Given the description of an element on the screen output the (x, y) to click on. 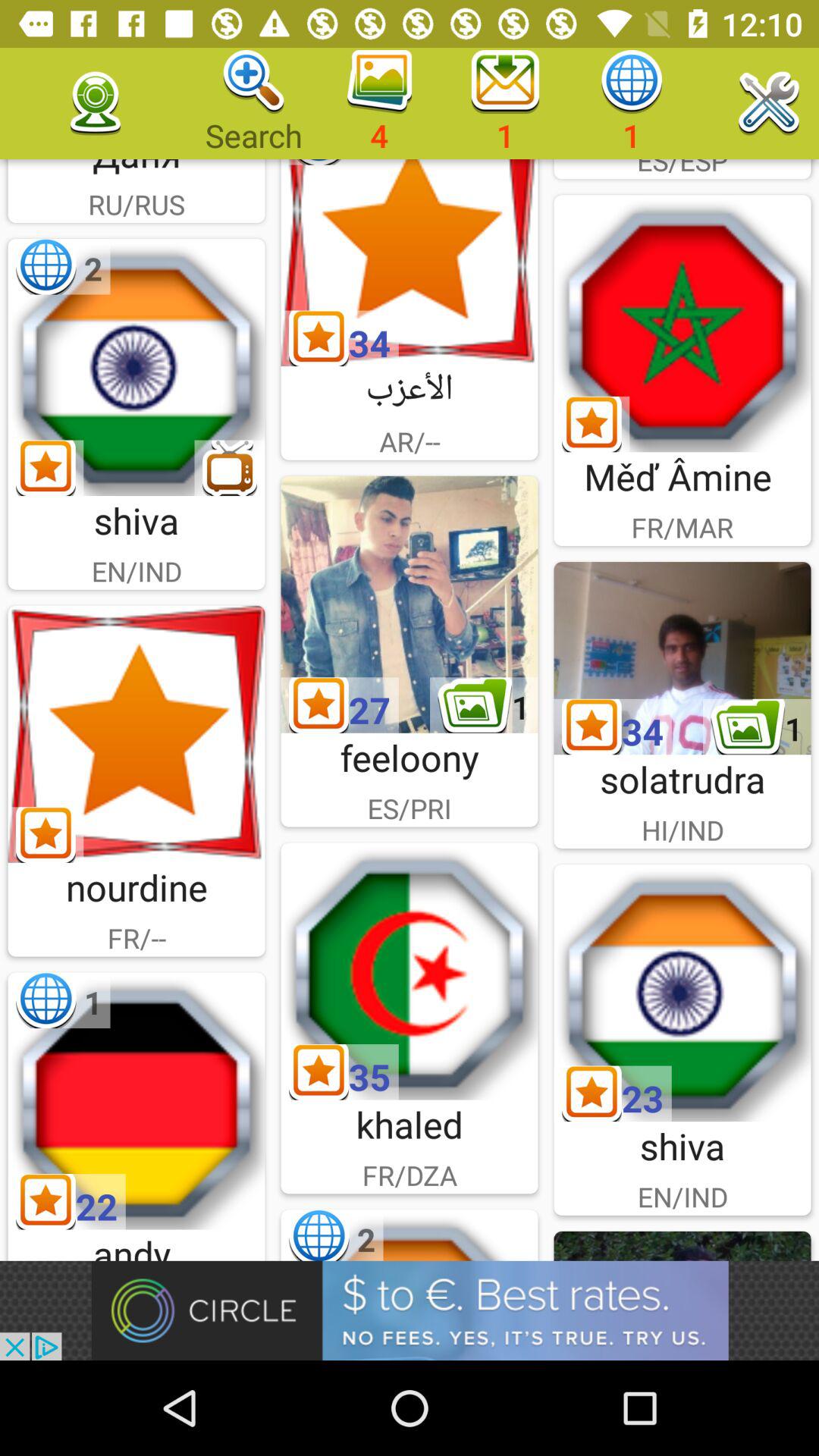
convert from dollars to euros with no fees (409, 1310)
